Given the description of an element on the screen output the (x, y) to click on. 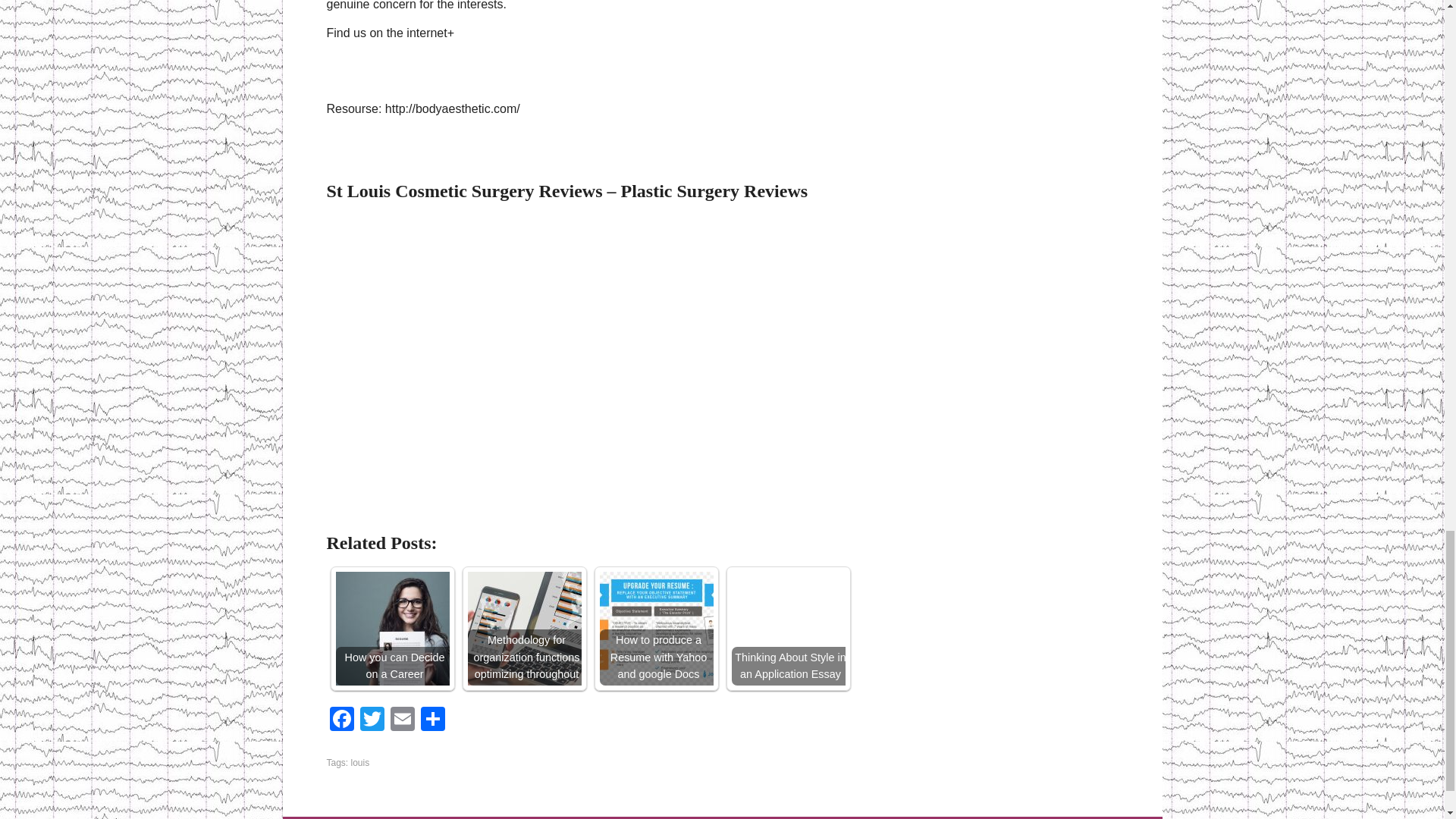
Thinking About Style in an Application Essay (787, 628)
Email (401, 720)
Twitter (371, 720)
How you can Decide on a Career (391, 628)
How you can Decide on a Career (391, 628)
How to produce a Resume with Yahoo and google Docs (655, 628)
Email (401, 720)
Facebook (341, 720)
Methodology for organization functions optimizing throughout (523, 628)
